Given the description of an element on the screen output the (x, y) to click on. 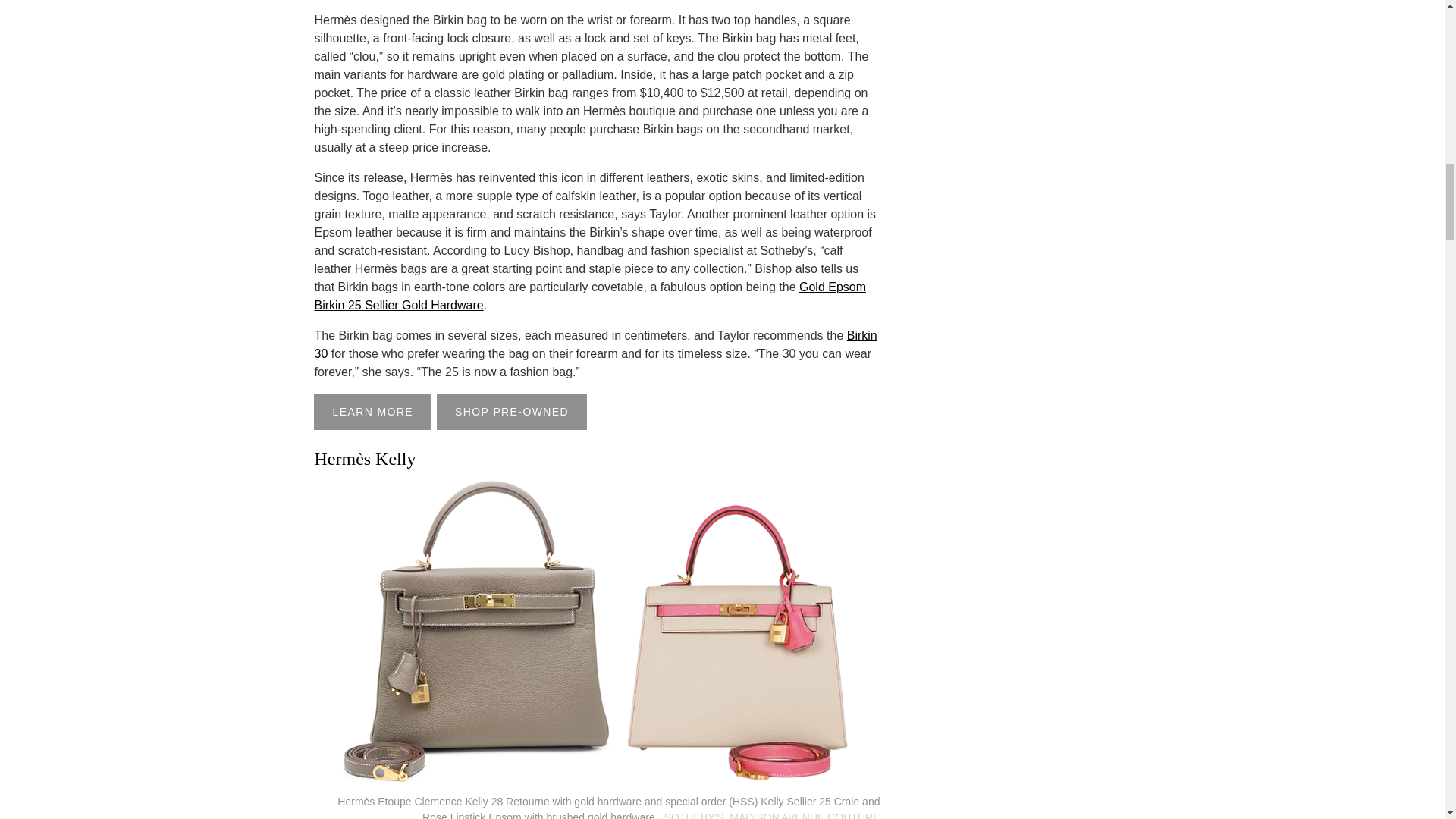
Birkin 30 (595, 344)
LEARN MORE (372, 411)
Gold Epsom Birkin 25 Sellier Gold Hardware (590, 296)
SHOP PRE-OWNED (511, 411)
